Given the description of an element on the screen output the (x, y) to click on. 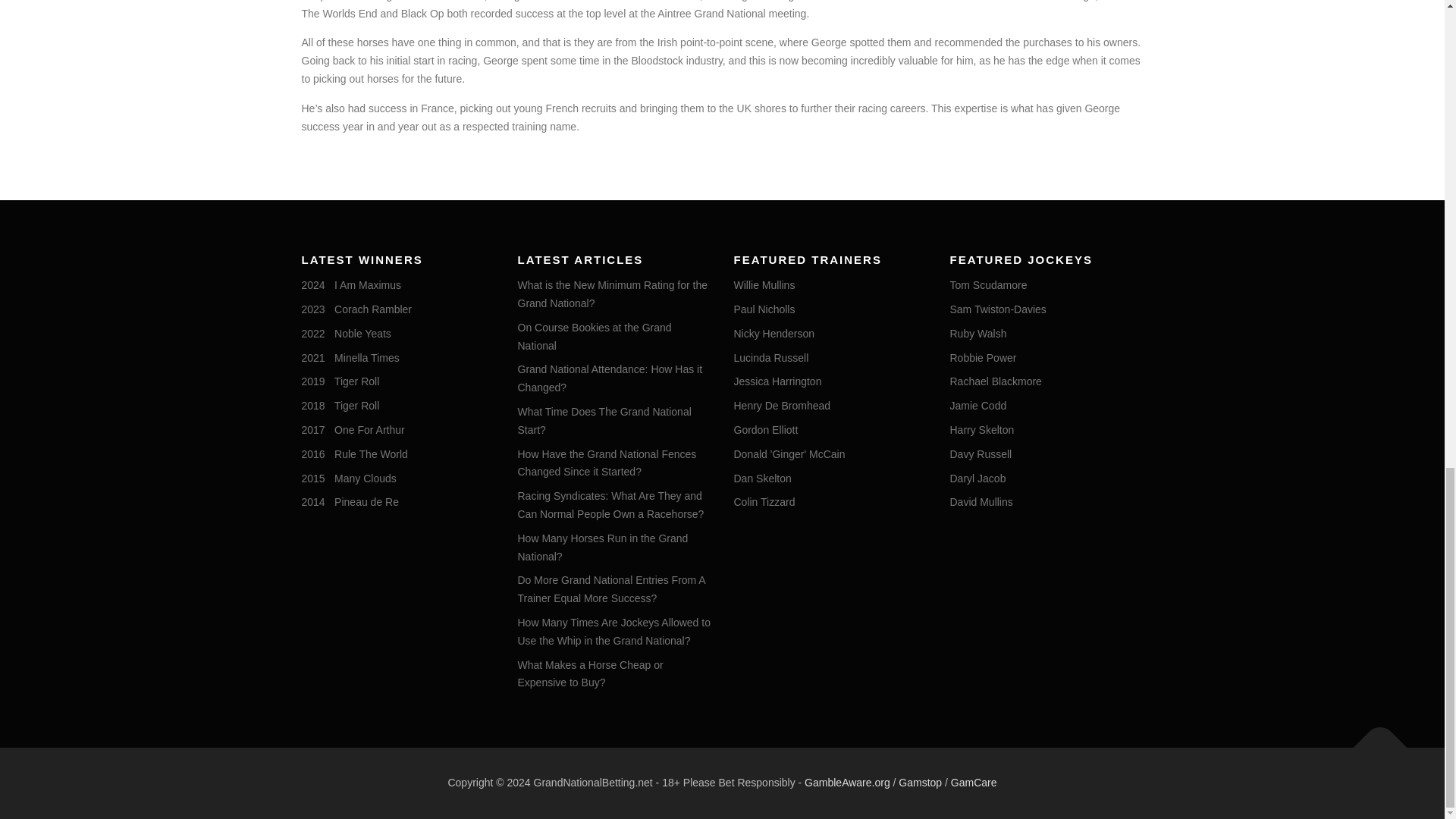
Back To Top (1372, 740)
